Given the description of an element on the screen output the (x, y) to click on. 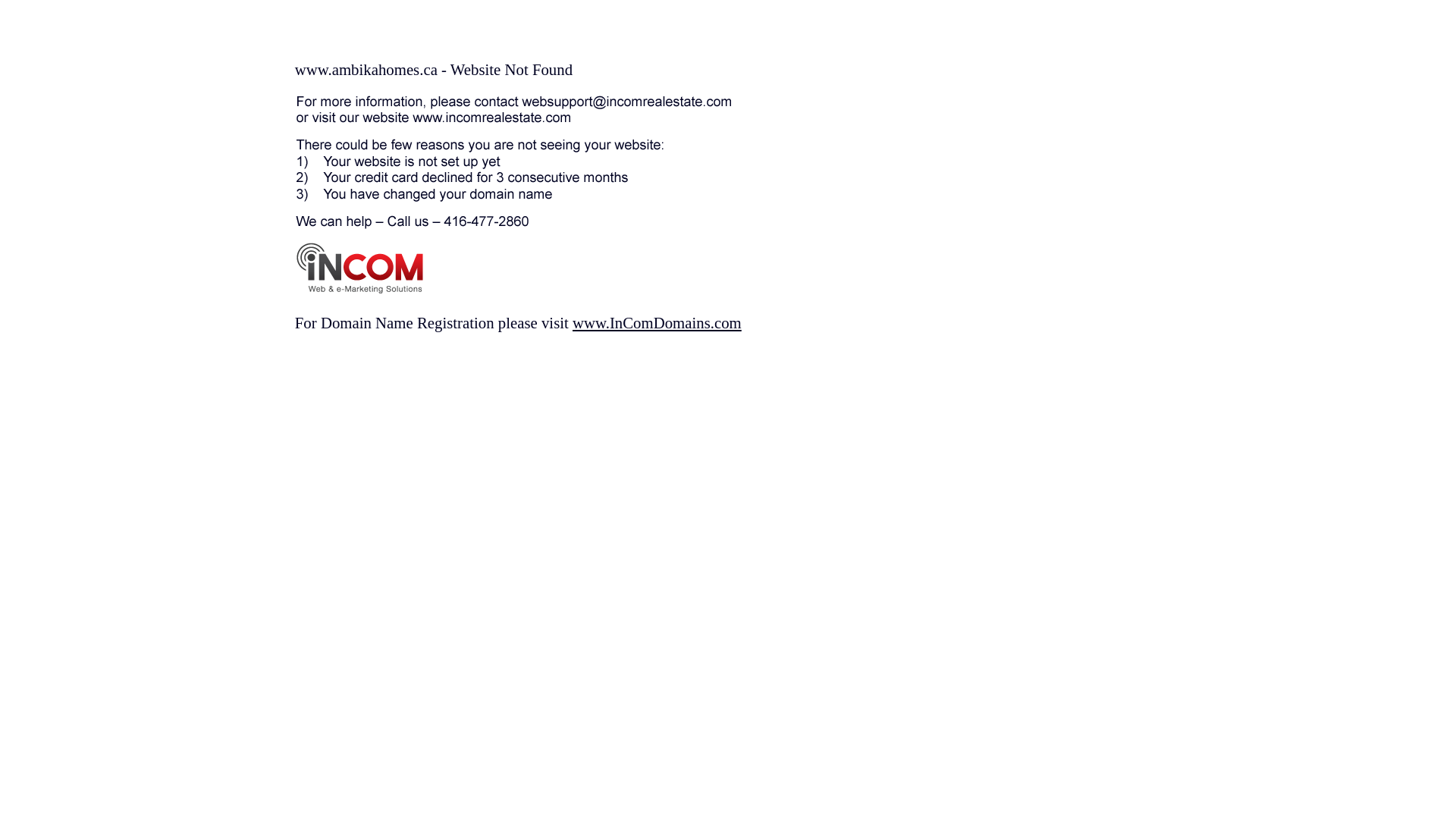
www.InComDomains.com Element type: text (656, 322)
